Given the description of an element on the screen output the (x, y) to click on. 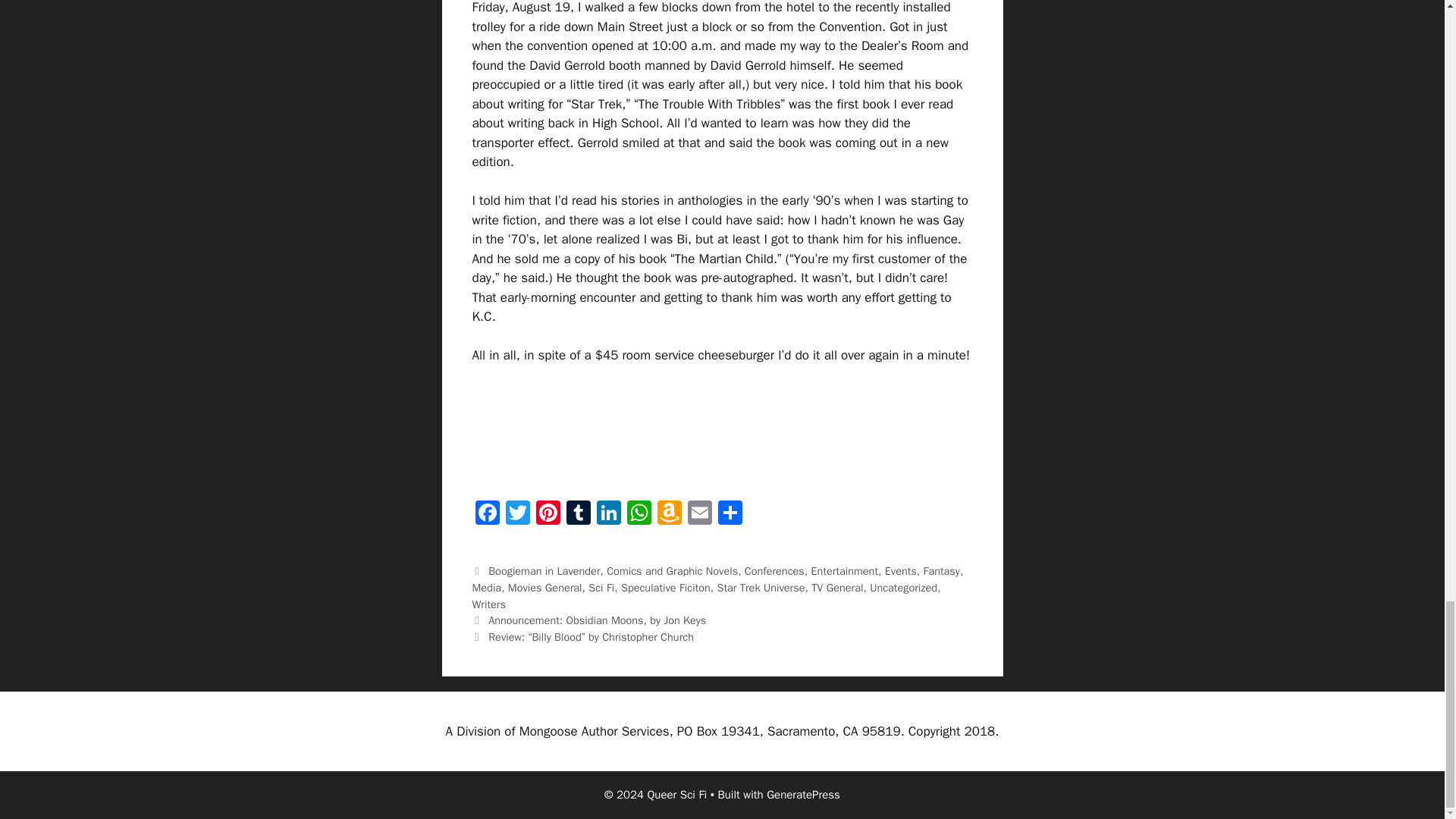
Pinterest (547, 514)
WhatsApp (638, 514)
Amazon Wish List (668, 514)
Email (699, 514)
LinkedIn (607, 514)
Tumblr (577, 514)
Facebook (486, 514)
Twitter (517, 514)
